Given the description of an element on the screen output the (x, y) to click on. 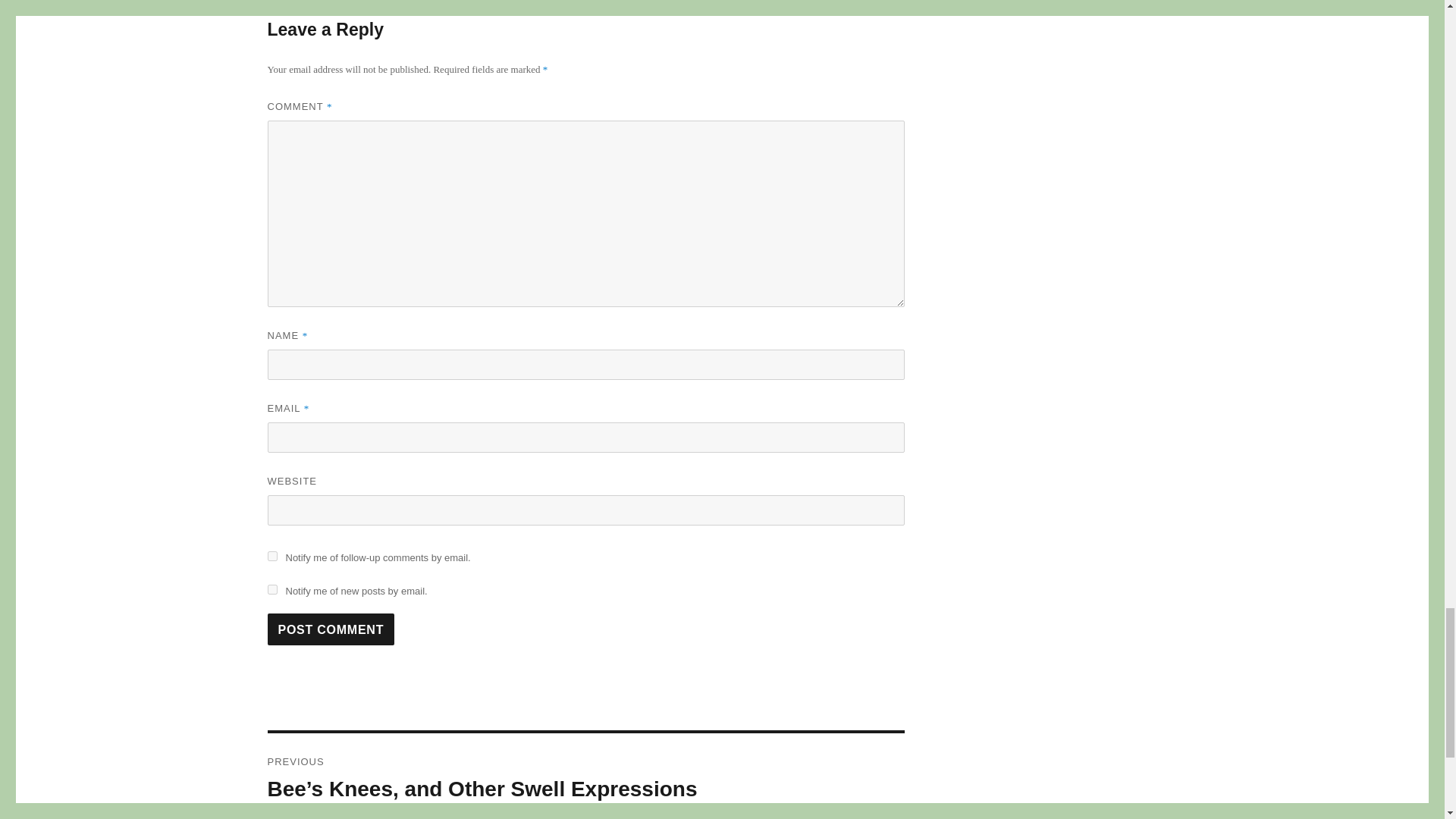
subscribe (271, 589)
Post Comment (330, 629)
subscribe (271, 556)
Post Comment (330, 629)
